Given the description of an element on the screen output the (x, y) to click on. 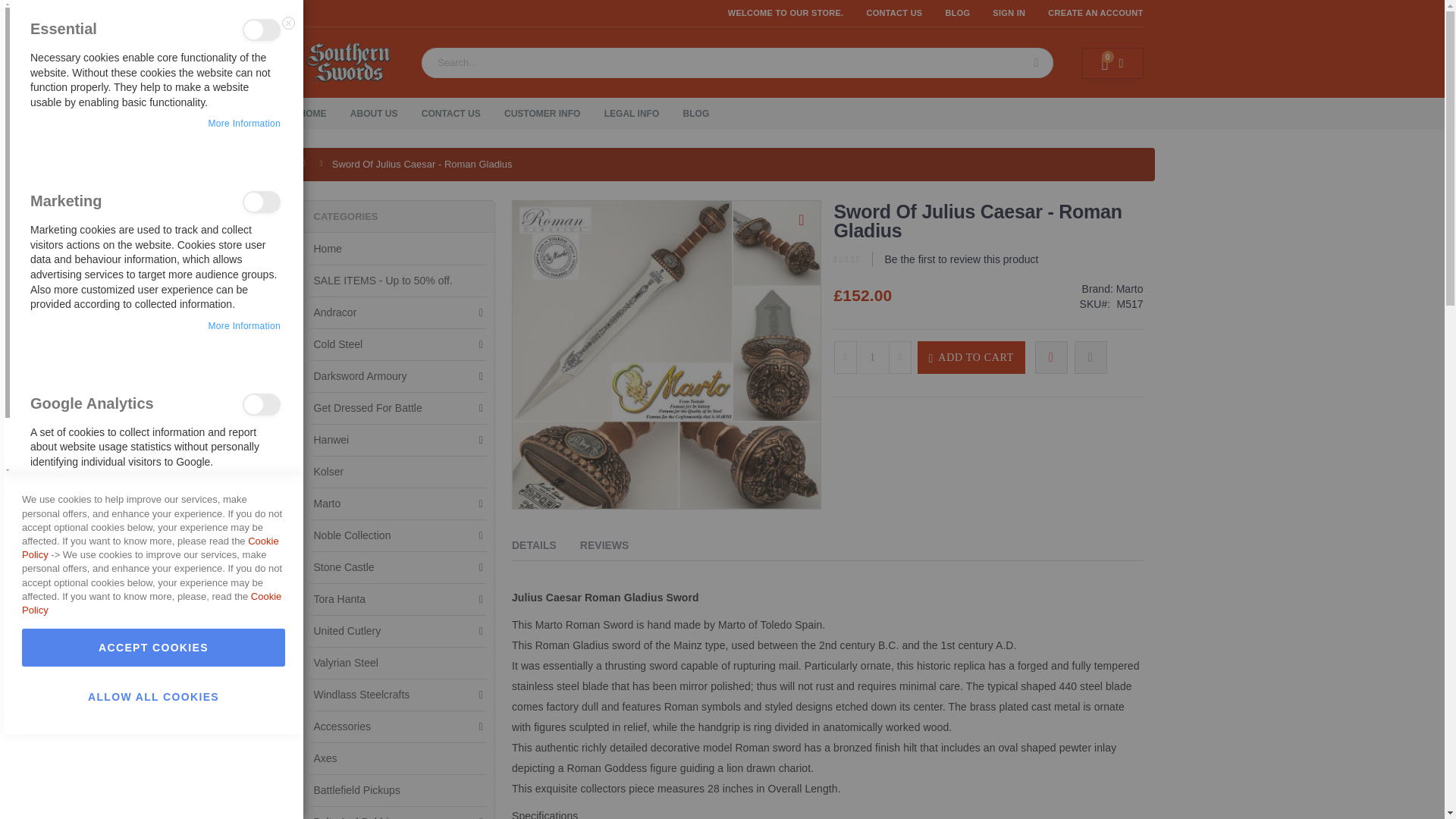
CREATE AN ACCOUNT (1089, 12)
BLOG (957, 12)
Search (1035, 62)
1 (872, 357)
Search (1035, 62)
Southern Swords (348, 62)
CONTACT US (893, 12)
SIGN IN (1008, 12)
